Given the description of an element on the screen output the (x, y) to click on. 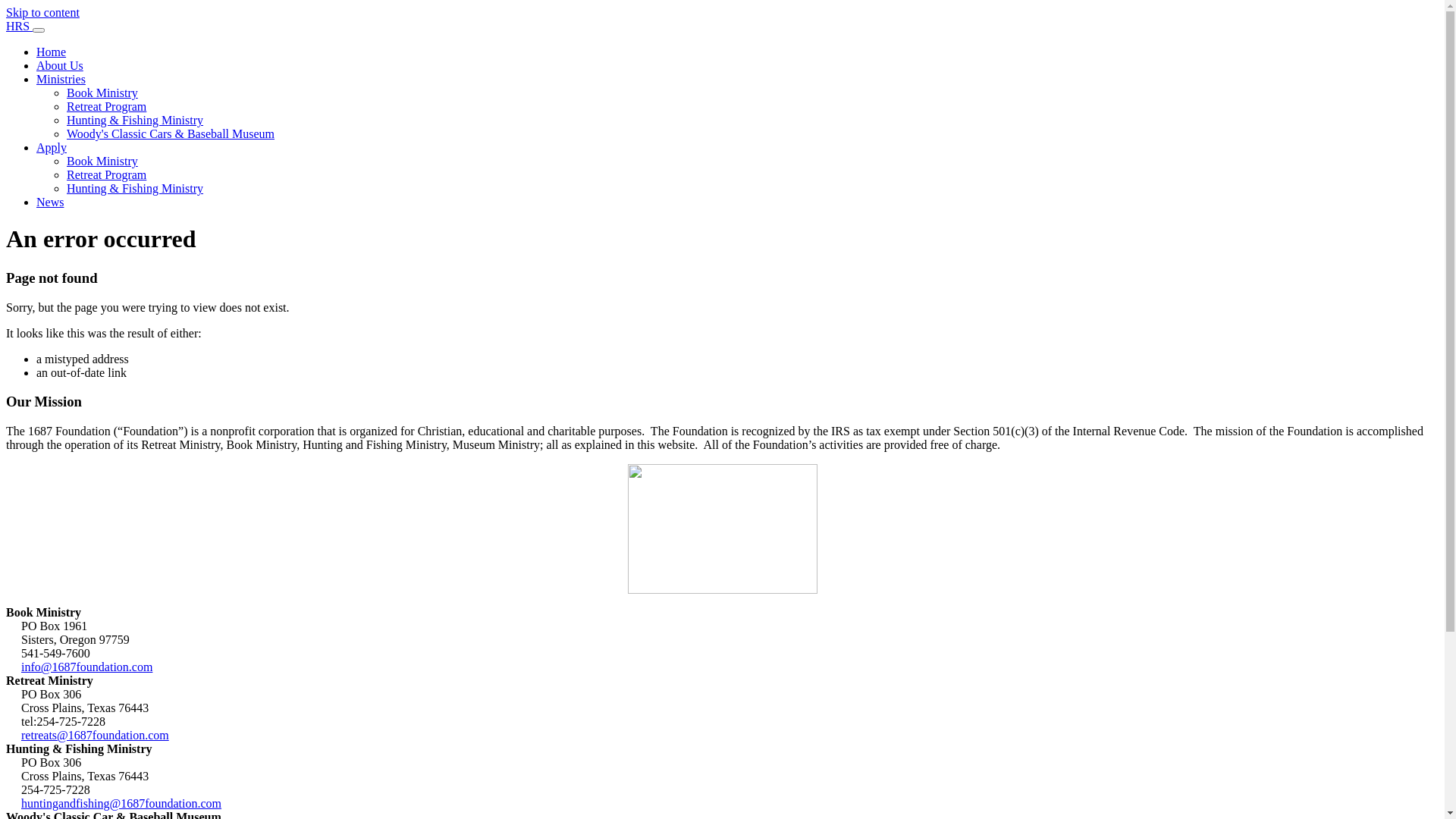
Retreat Program Element type: text (106, 106)
huntingandfishing@1687foundation.com Element type: text (121, 803)
retreats@1687foundation.com Element type: text (95, 734)
Apply Element type: text (51, 147)
Book Ministry Element type: text (102, 160)
News Element type: text (49, 201)
Hunting & Fishing Ministry Element type: text (134, 188)
Skip to content Element type: text (42, 12)
Hunting & Fishing Ministry Element type: text (134, 119)
info@1687foundation.com Element type: text (86, 666)
Ministries Element type: text (60, 78)
About Us Element type: text (59, 65)
Retreat Program Element type: text (106, 174)
Book Ministry Element type: text (102, 92)
Woody's Classic Cars & Baseball Museum Element type: text (170, 133)
HRS Element type: text (19, 25)
Home Element type: text (50, 51)
